Given the description of an element on the screen output the (x, y) to click on. 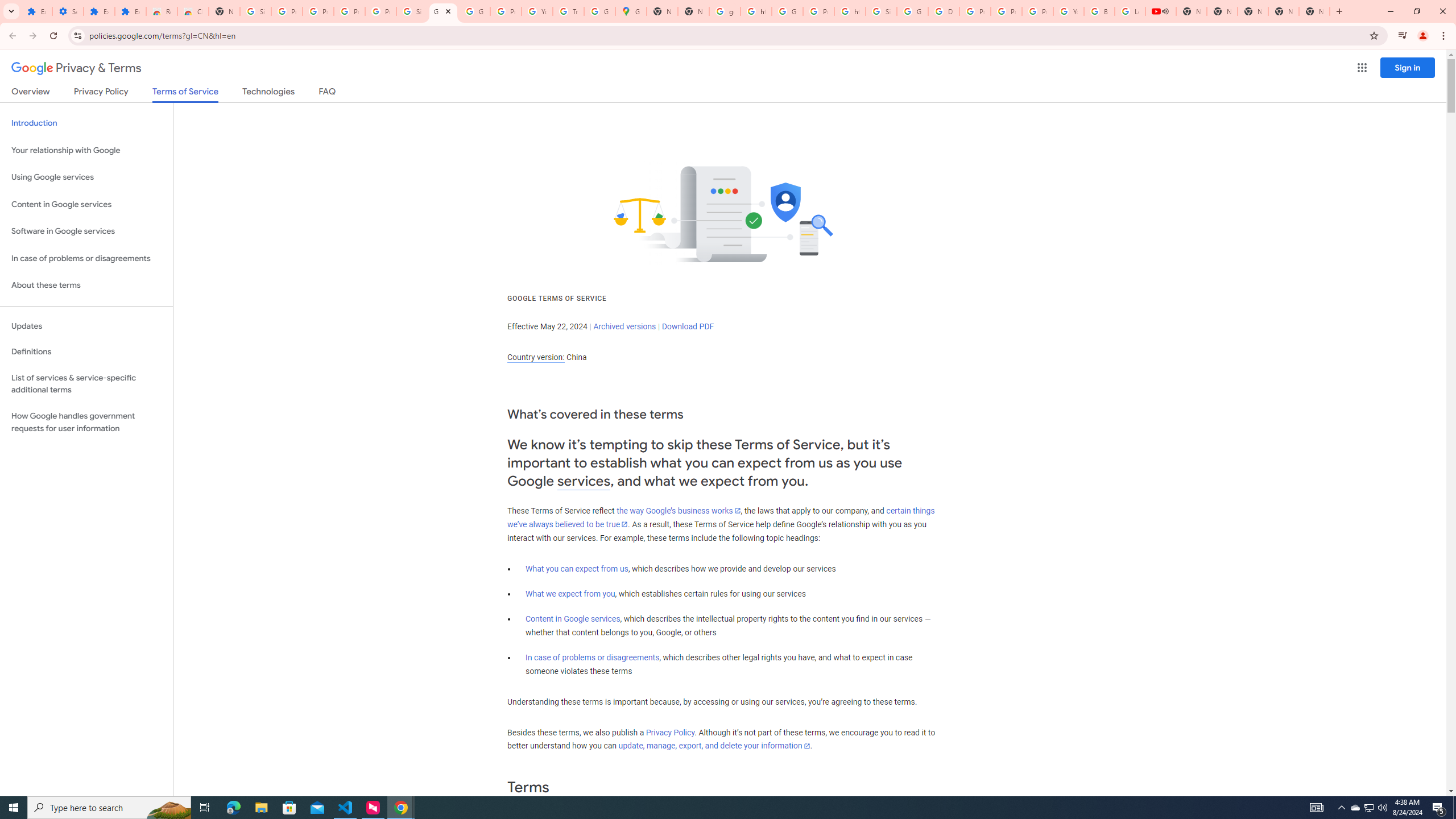
Using Google services (86, 176)
Archived versions (624, 326)
Software in Google services (86, 230)
Sign in - Google Accounts (255, 11)
update, manage, export, and delete your information (714, 746)
Your relationship with Google (86, 150)
How Google handles government requests for user information (86, 422)
Content in Google services (572, 618)
Definitions (86, 352)
About these terms (86, 284)
